Given the description of an element on the screen output the (x, y) to click on. 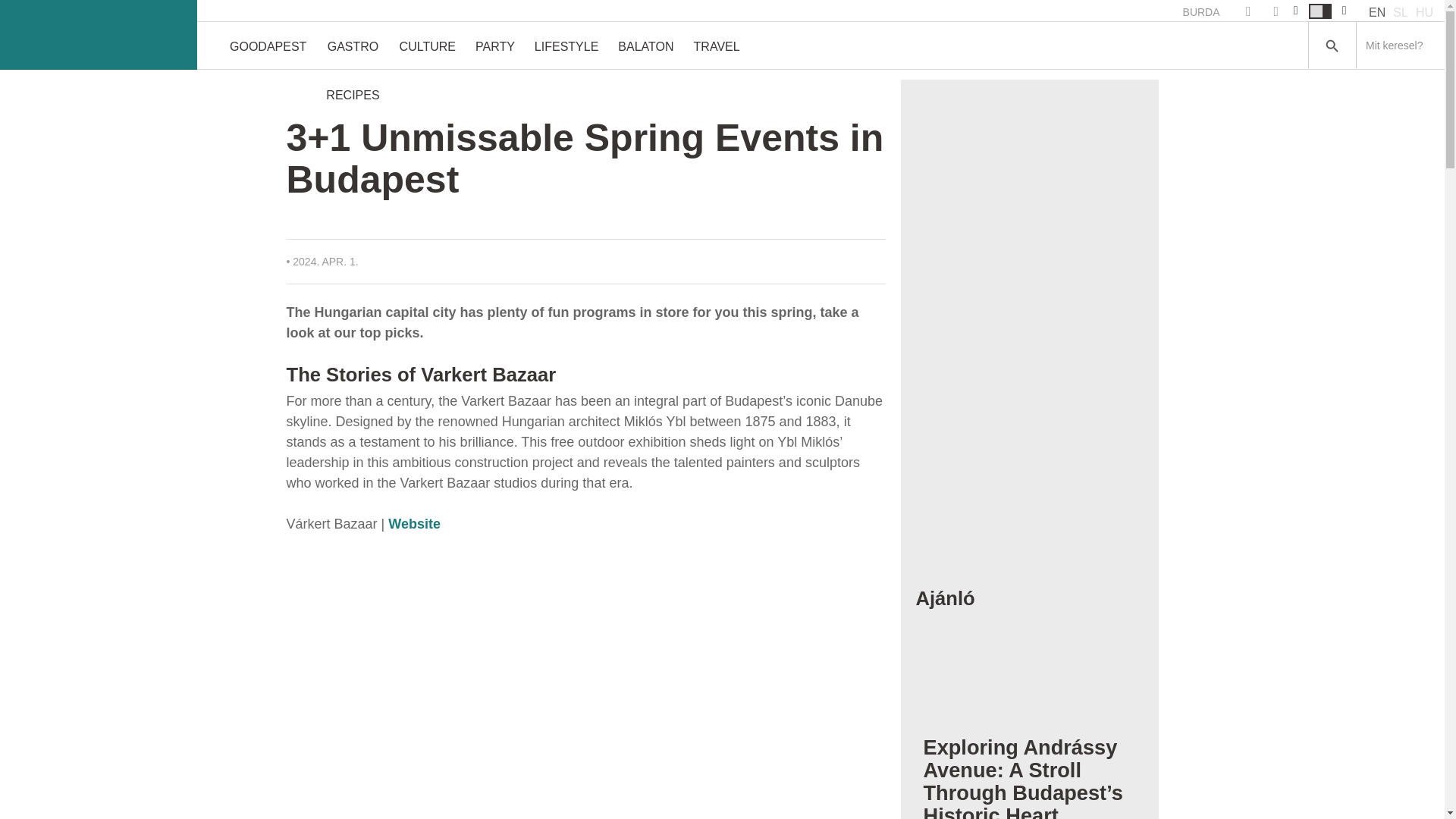
PARTY (494, 46)
TRAVEL (716, 46)
SL (1400, 11)
CULTURE (427, 46)
LIFESTYLE (566, 46)
HU (1424, 11)
BURDA (1201, 11)
GASTRO (351, 46)
RECIPES (351, 94)
Fuzine (98, 34)
